Given the description of an element on the screen output the (x, y) to click on. 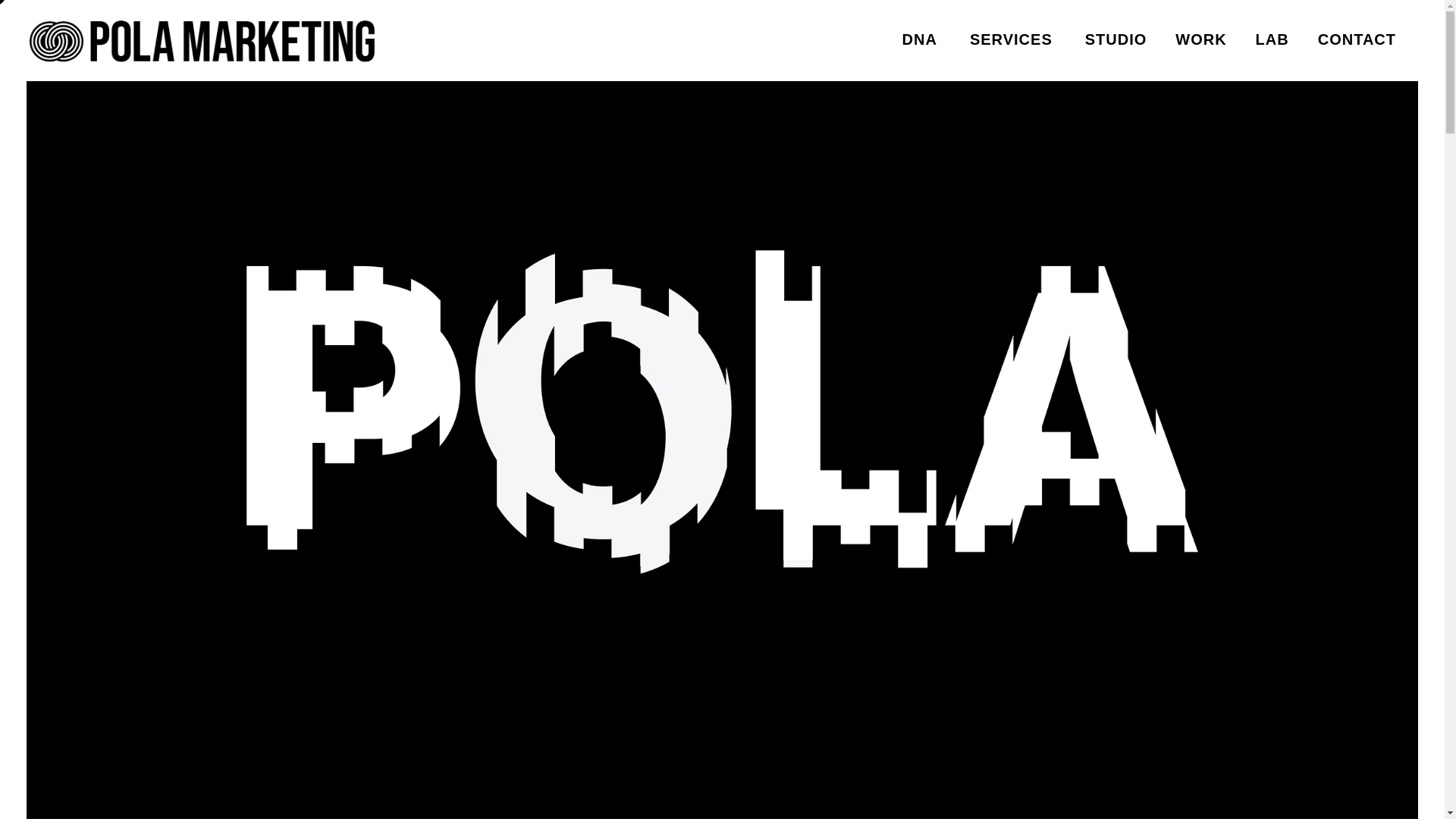
CONTACT (1356, 39)
STUDIO (1115, 39)
SERVICES (1012, 39)
LAB (1272, 39)
DNA (921, 39)
WORK (1200, 39)
